Given the description of an element on the screen output the (x, y) to click on. 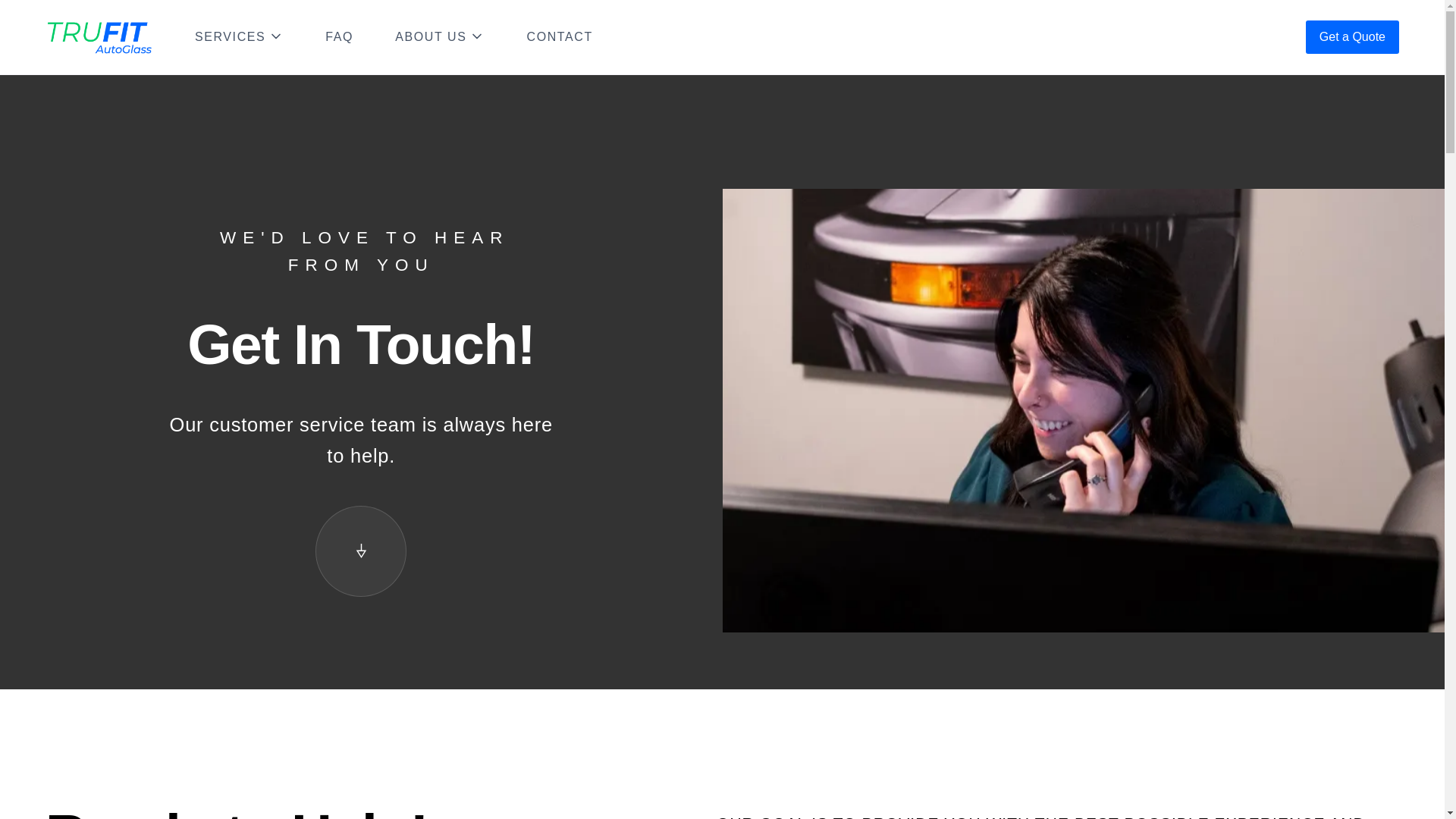
Get a Quote (1352, 37)
DISCOVER (360, 551)
FAQ (339, 36)
SERVICES (229, 36)
CONTACT (559, 36)
ABOUT US (429, 36)
